Given the description of an element on the screen output the (x, y) to click on. 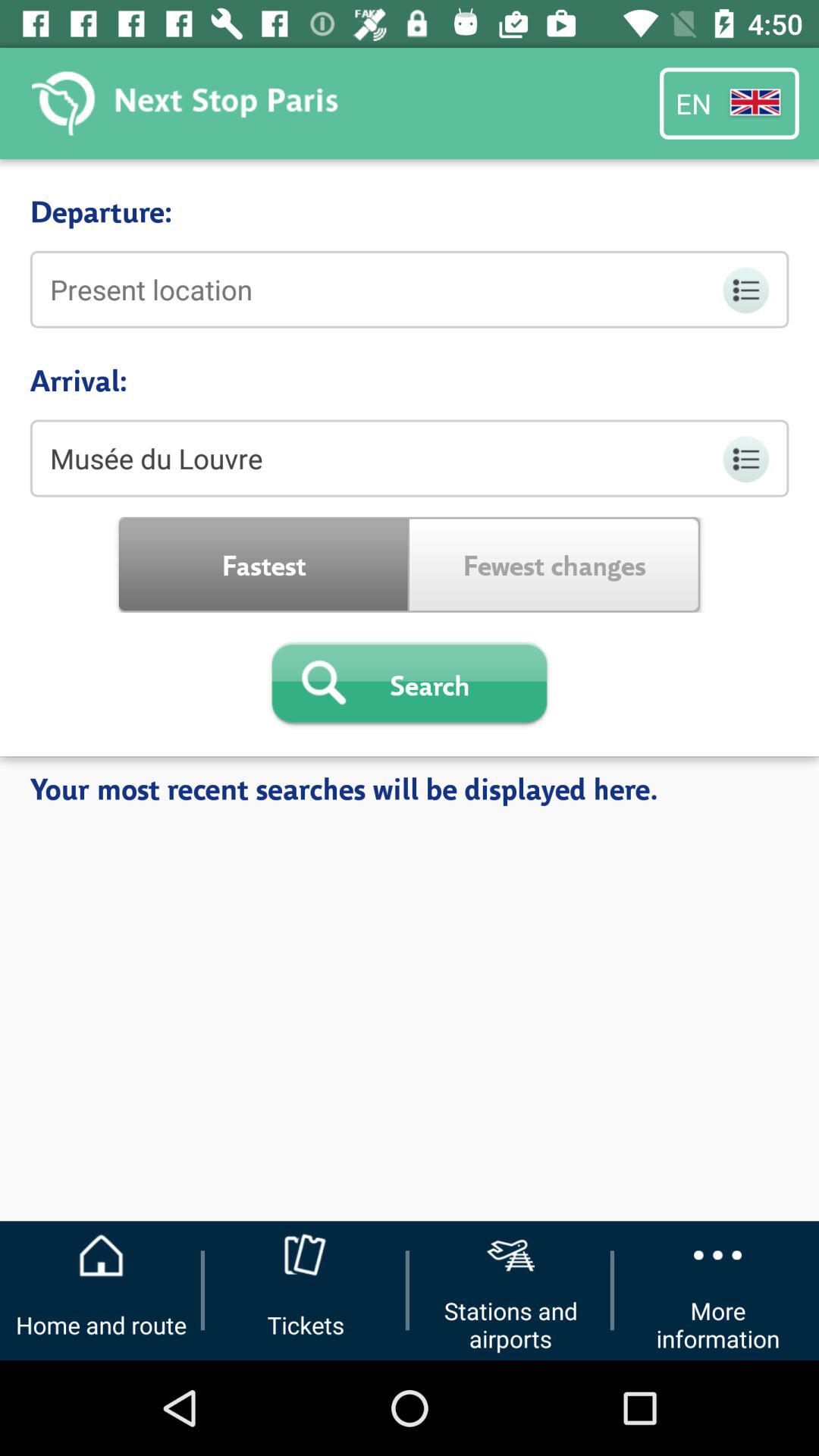
select fastest on the left (263, 564)
